Given the description of an element on the screen output the (x, y) to click on. 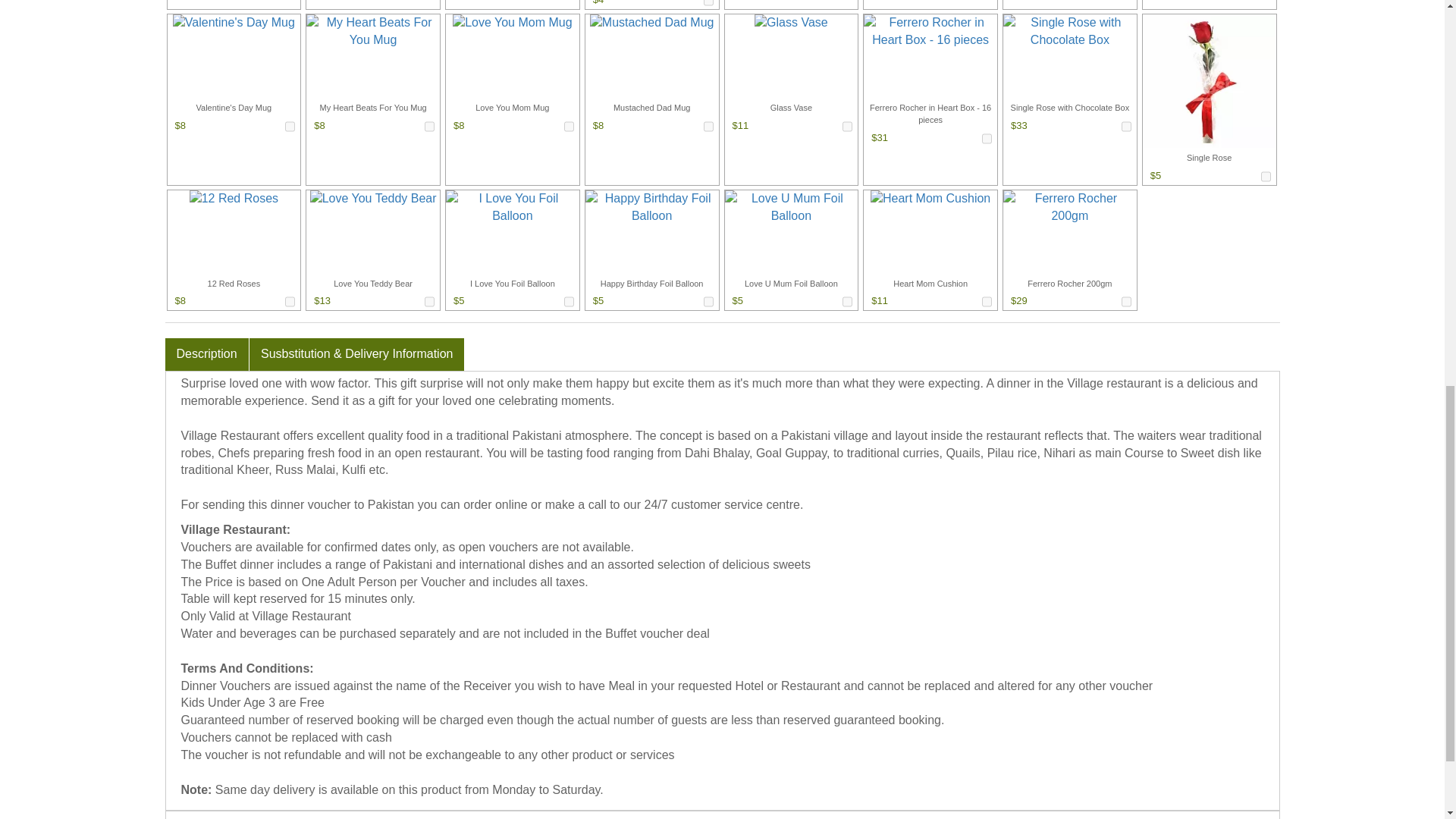
3.0500 (708, 5)
